Given the description of an element on the screen output the (x, y) to click on. 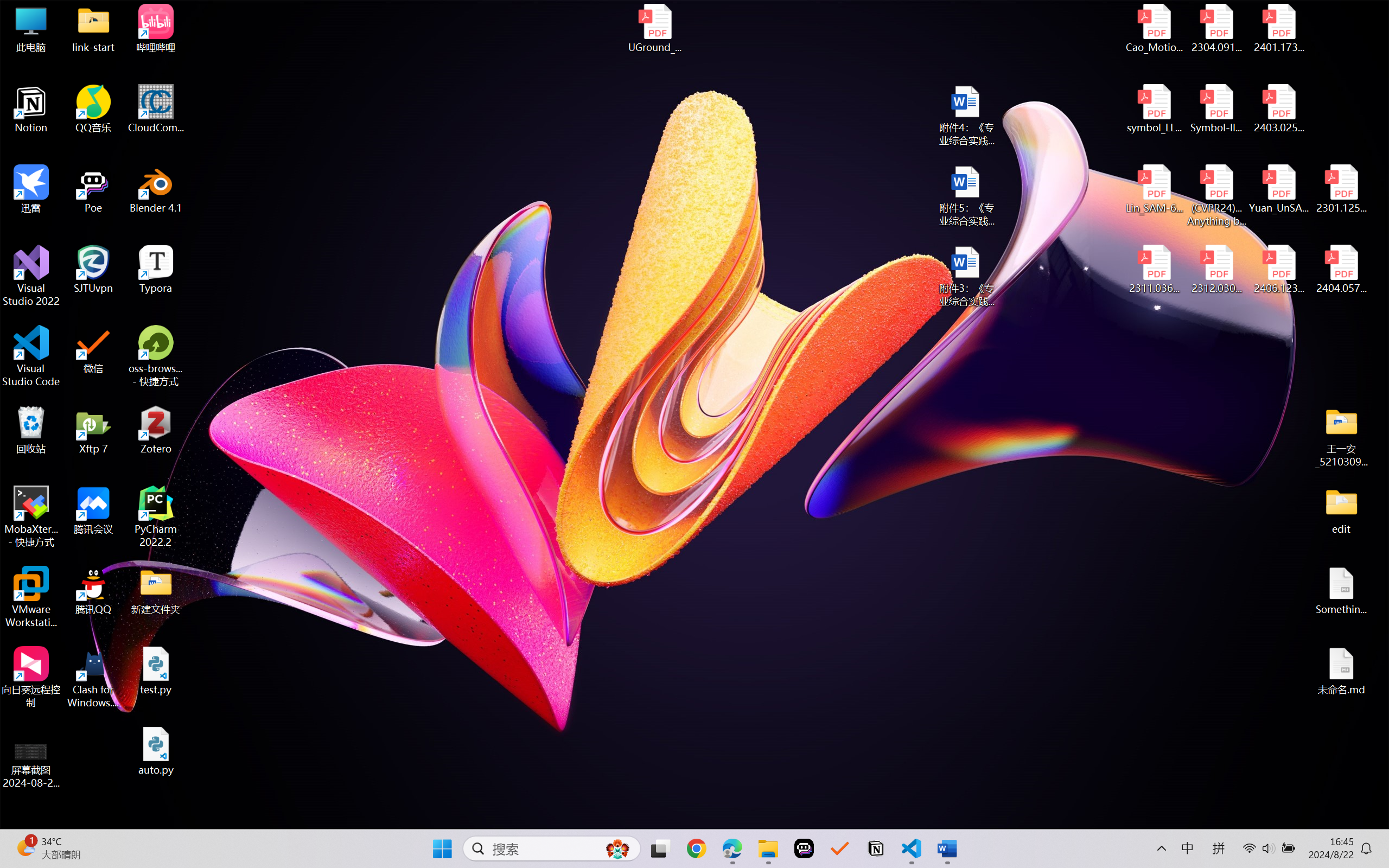
2401.17399v1.pdf (1278, 28)
2404.05719v1.pdf (1340, 269)
CloudCompare (156, 109)
